Given the description of an element on the screen output the (x, y) to click on. 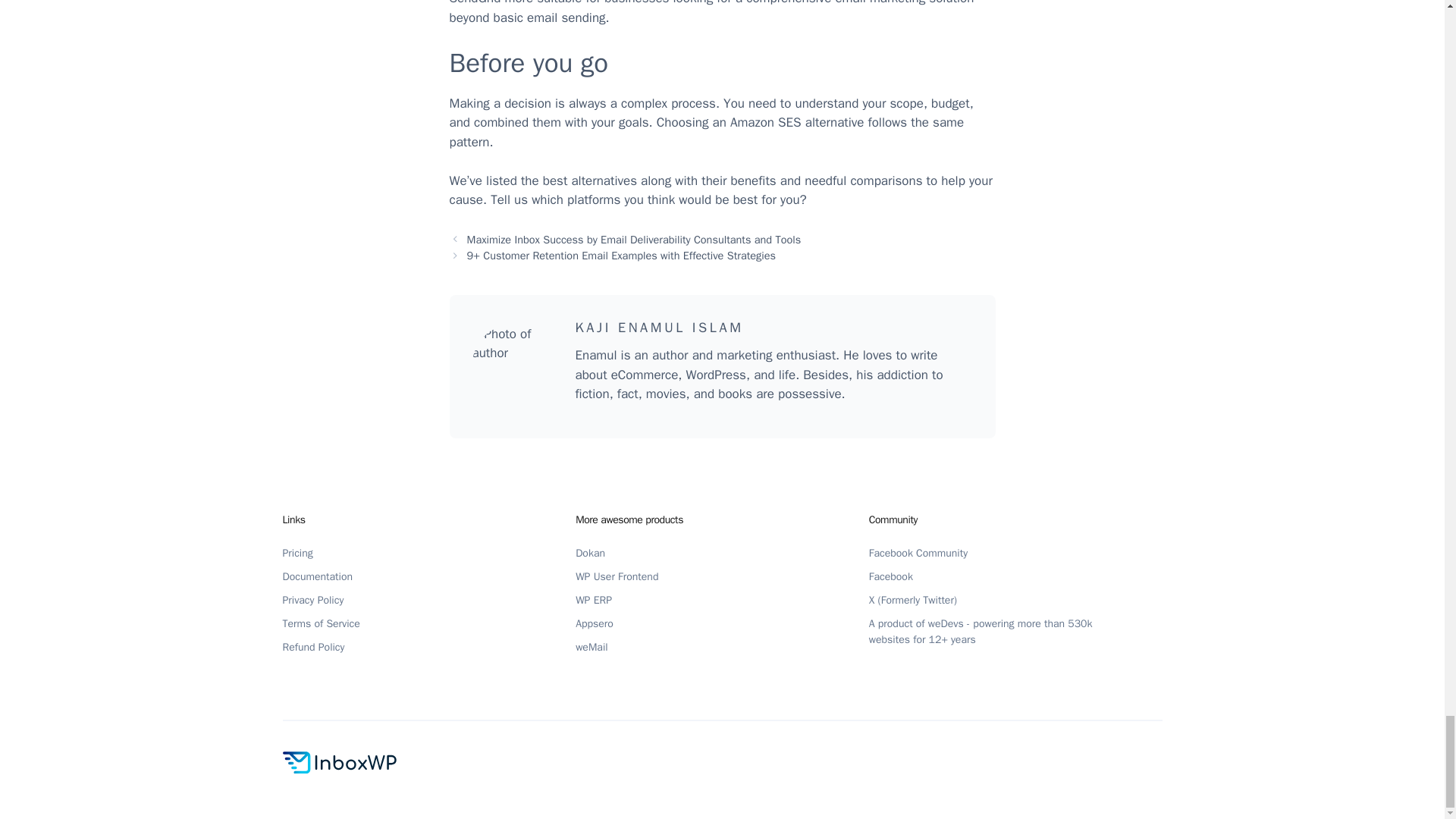
WP User Frontend (623, 576)
Terms of Service (328, 623)
WP ERP (601, 599)
Pricing (304, 553)
Appsero (601, 623)
Refund Policy (320, 647)
Privacy Policy (320, 599)
Facebook Community (925, 553)
weMail (599, 647)
Facebook (898, 576)
Dokan (597, 553)
